Given the description of an element on the screen output the (x, y) to click on. 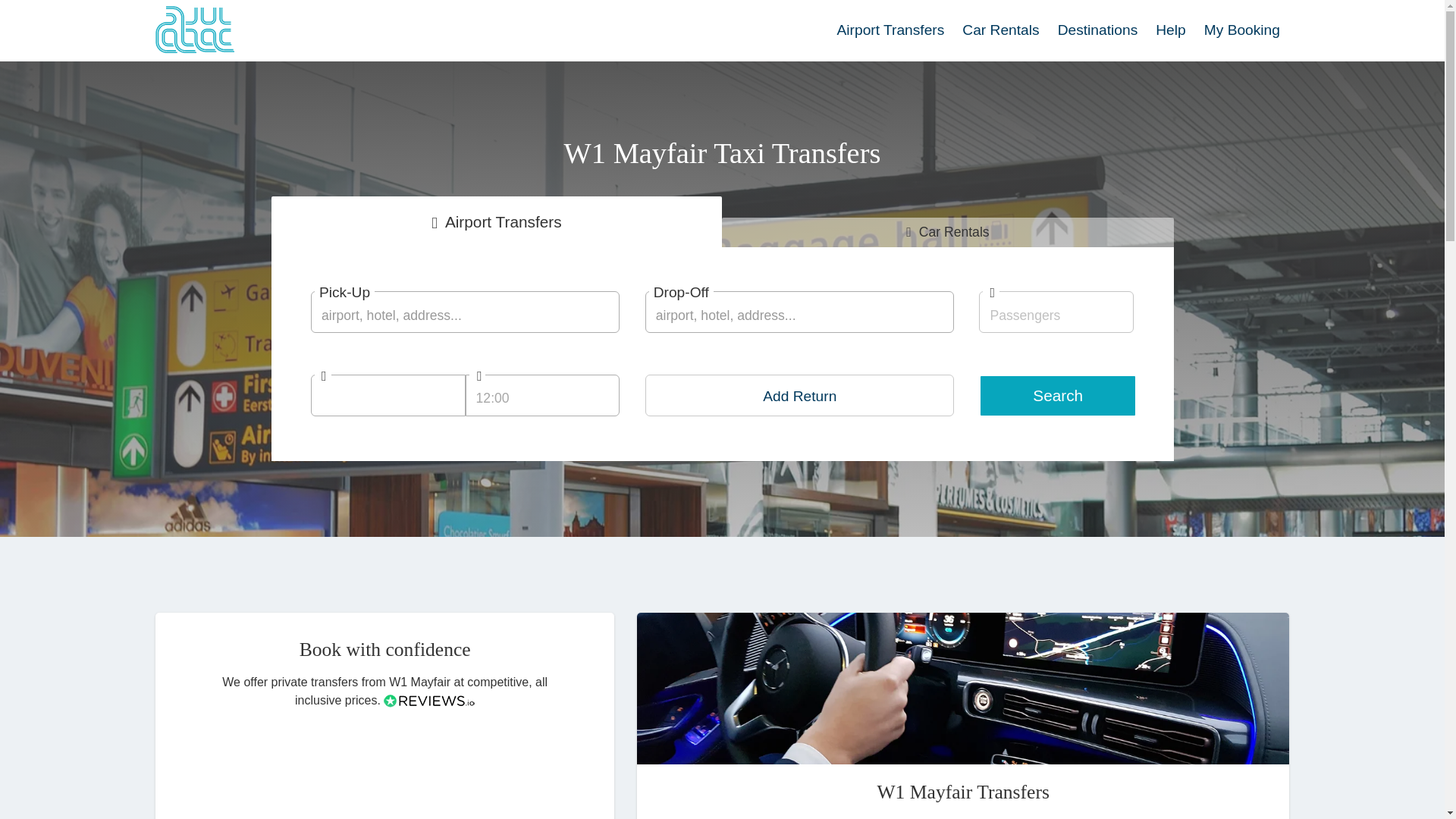
12:00 (542, 395)
Airport Transfers (890, 30)
Airport Transfers (496, 221)
Destinations (1097, 30)
My Booking (1241, 30)
Car Rentals (947, 232)
Search (1057, 395)
Help (1170, 30)
Car Rentals (1000, 30)
